Given the description of an element on the screen output the (x, y) to click on. 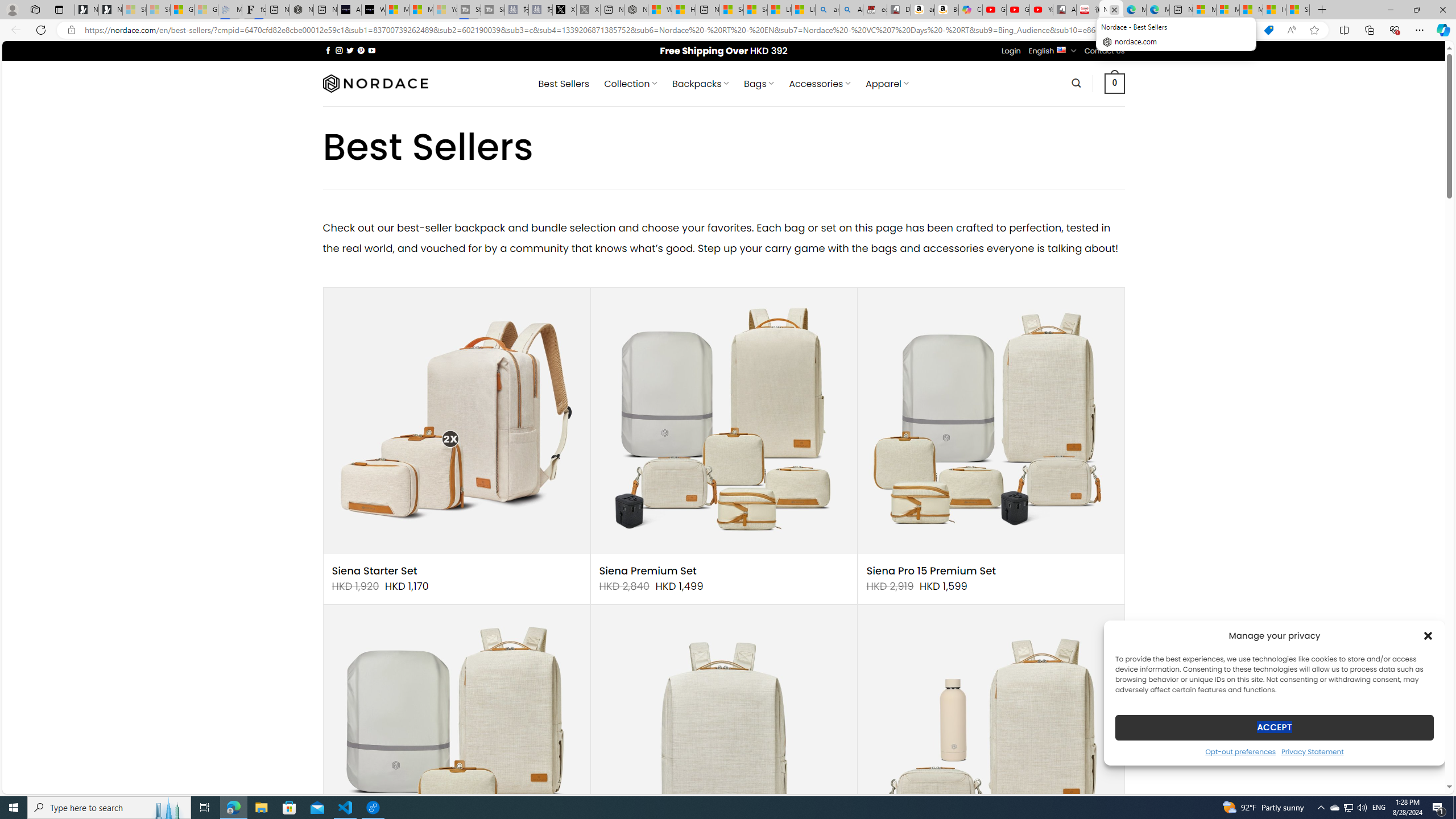
Nordace - Best Sellers (1111, 9)
amazon.in/dp/B0CX59H5W7/?tag=gsmcom05-21 (922, 9)
Browser essentials (1394, 29)
View site information (70, 29)
Search (1076, 83)
Microsoft Start Sports (396, 9)
